Given the description of an element on the screen output the (x, y) to click on. 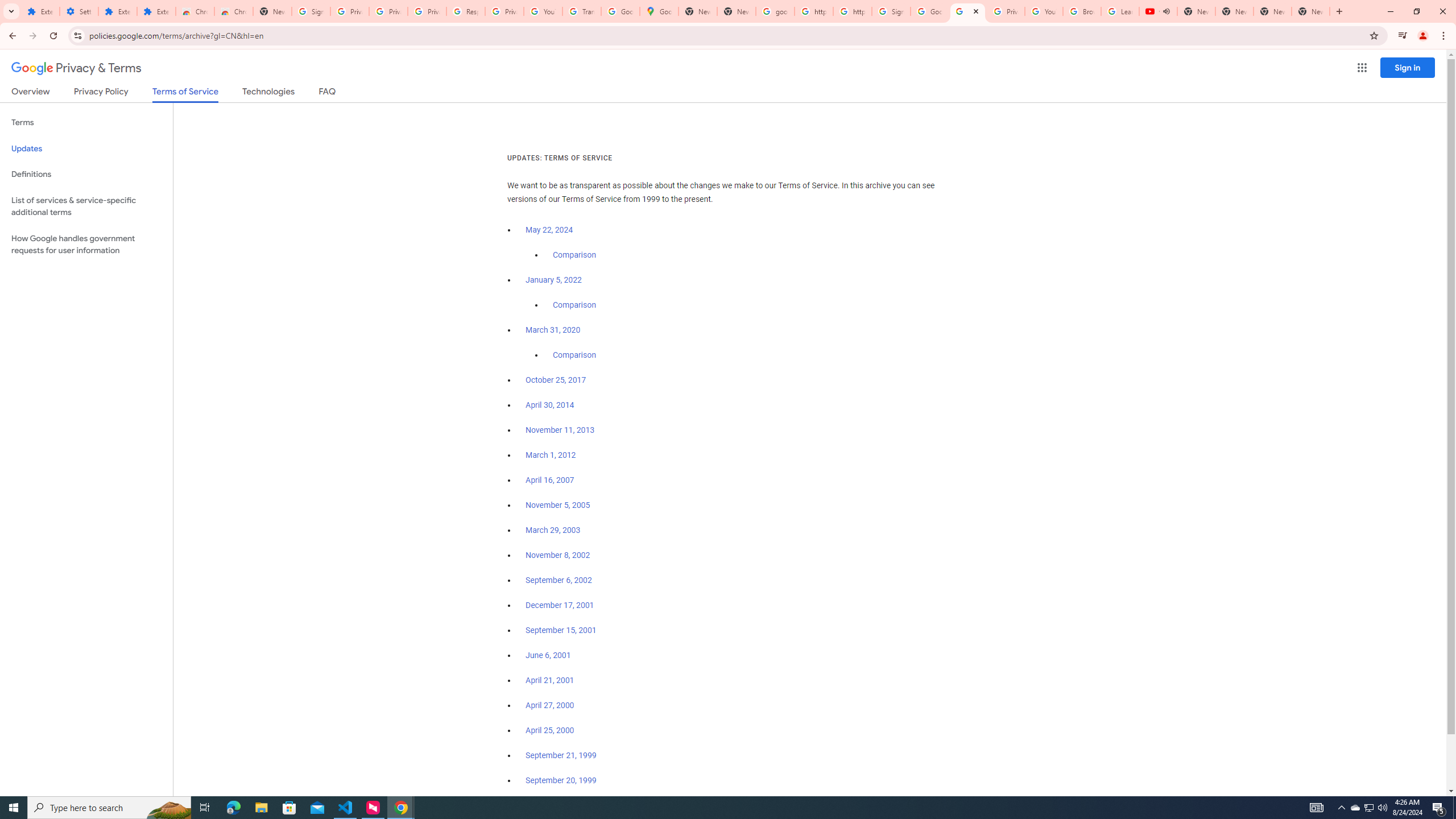
Extensions (156, 11)
March 1, 2012 (550, 455)
Chrome Web Store (194, 11)
Settings (79, 11)
September 21, 1999 (560, 755)
How Google handles government requests for user information (86, 244)
March 29, 2003 (552, 530)
March 31, 2020 (552, 330)
